Given the description of an element on the screen output the (x, y) to click on. 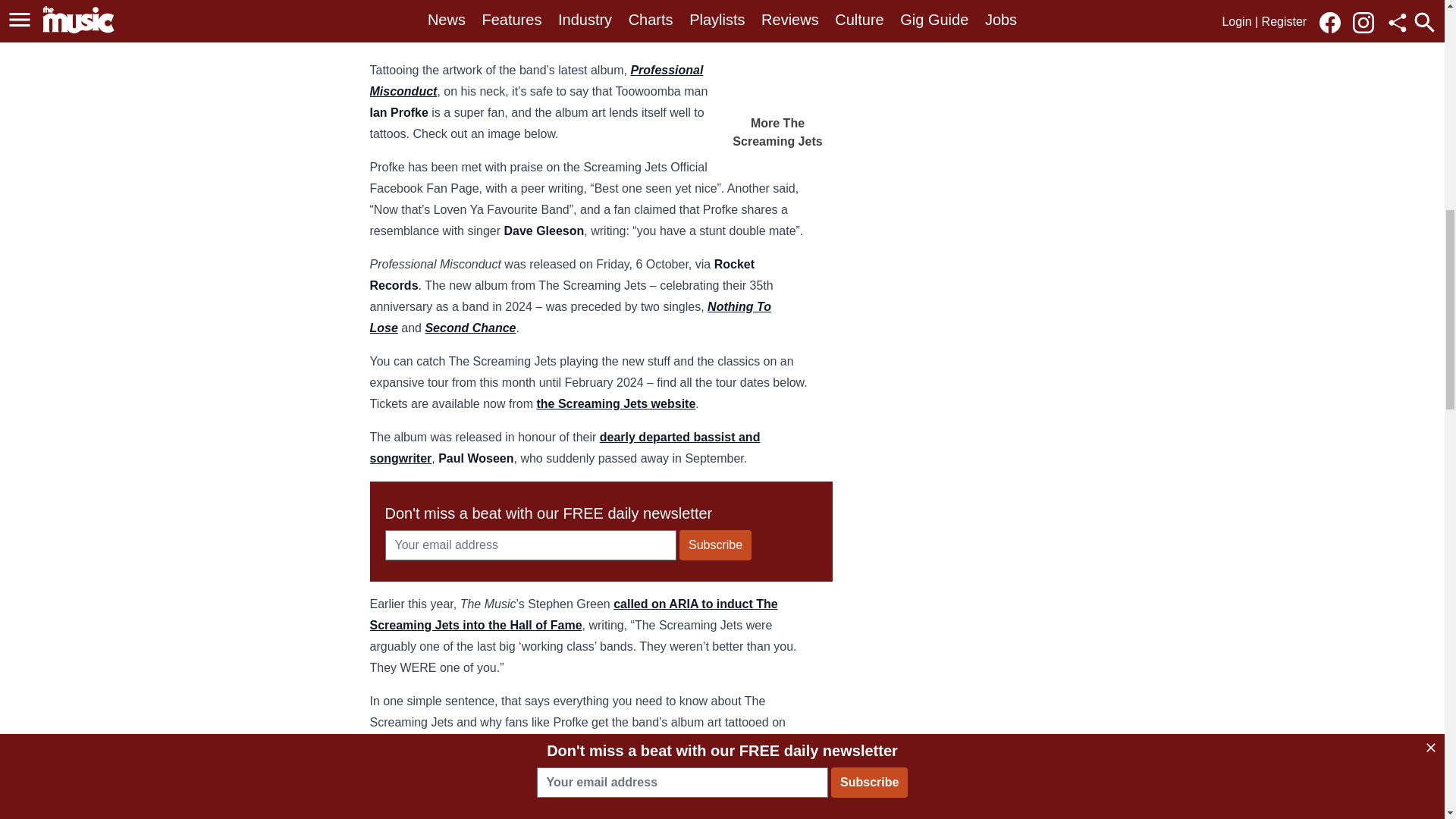
the Screaming Jets website (615, 403)
Nothing To Lose (570, 317)
Monday, November 6, 2023 (599, 783)
Ian Profke (471, 783)
Second Chance (470, 327)
Professional Misconduct (536, 80)
Subscribe (715, 544)
dearly departed bassist and songwriter (564, 447)
